Given the description of an element on the screen output the (x, y) to click on. 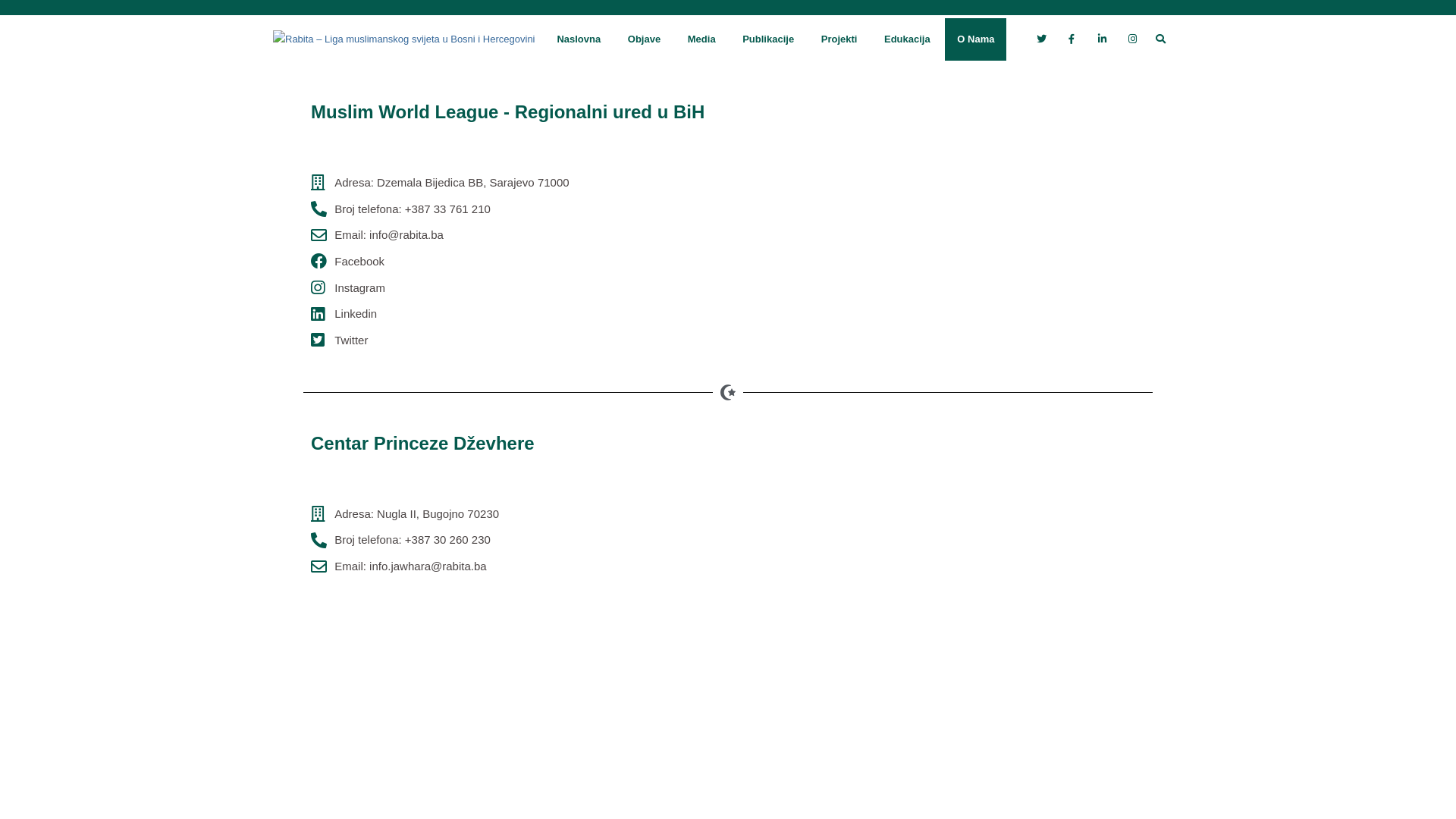
Search Element type: text (25, 13)
Media Element type: text (701, 39)
O Nama Element type: text (975, 39)
Twitter Element type: text (537, 340)
Publikacije Element type: text (768, 39)
nUGLA 2 Element type: hover (963, 507)
Projekti Element type: text (839, 39)
Naslovna Element type: text (578, 39)
Objave Element type: text (643, 39)
43.84963081172028, 18.367491735789162 Element type: hover (963, 225)
Edukacija Element type: text (907, 39)
Facebook Element type: text (537, 261)
Linkedin Element type: text (537, 313)
Instagram Element type: text (537, 287)
